Given the description of an element on the screen output the (x, y) to click on. 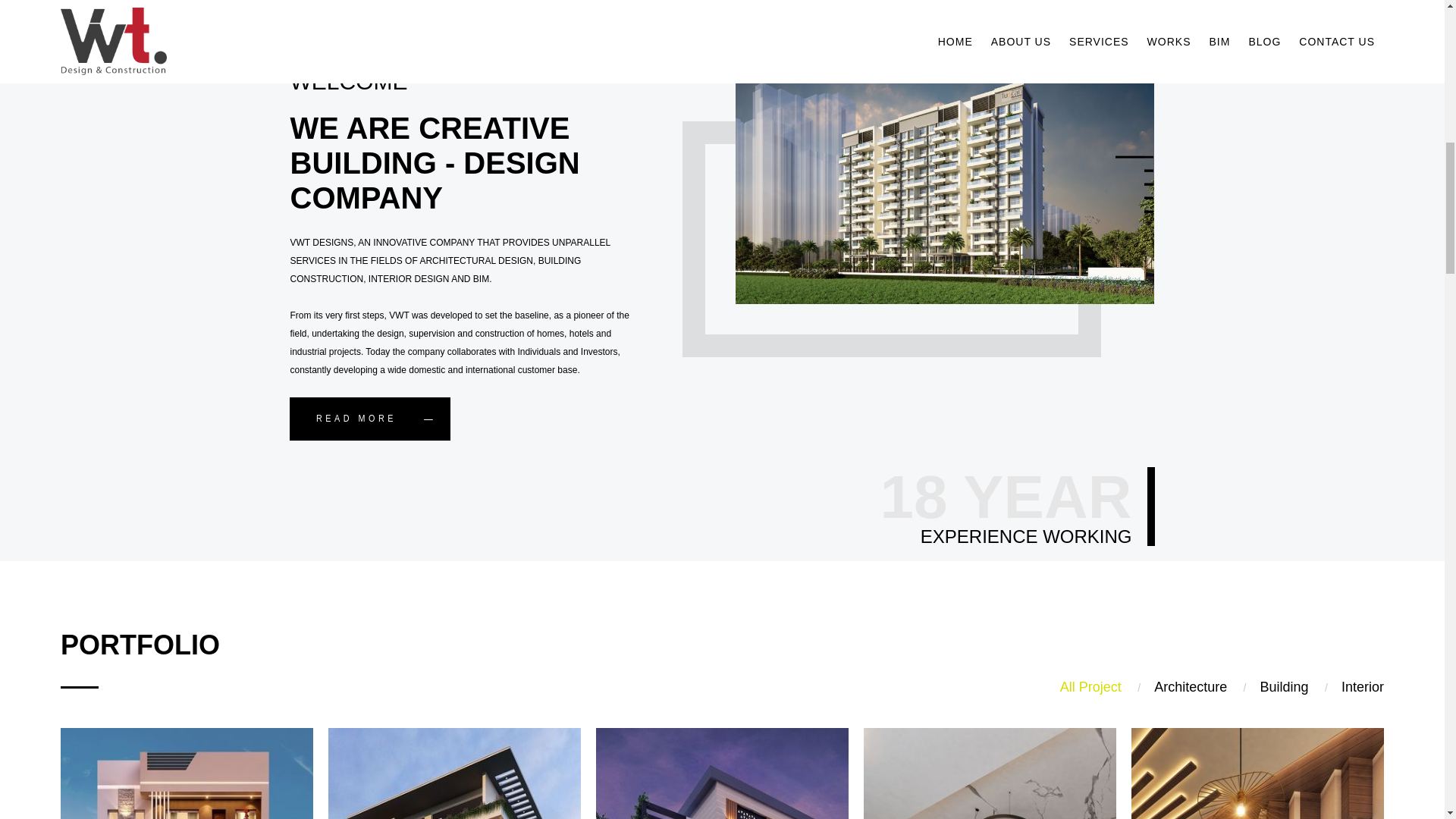
READ MORE (370, 418)
